Given the description of an element on the screen output the (x, y) to click on. 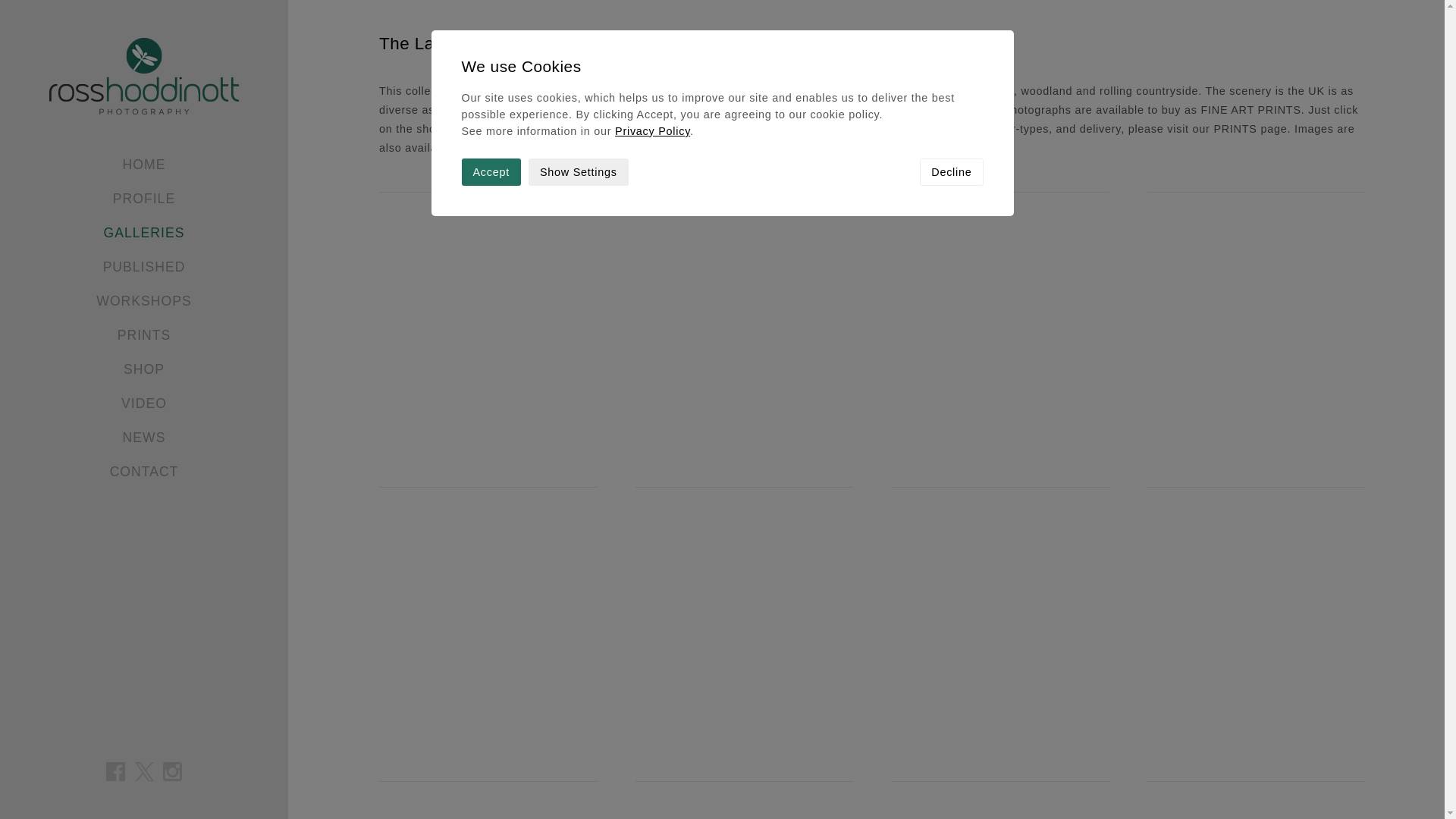
Ross Hoddinott (143, 75)
Follow on Facebook (115, 771)
PRINTS (144, 335)
NEWS (143, 437)
WORKSHOPS (143, 300)
